Given the description of an element on the screen output the (x, y) to click on. 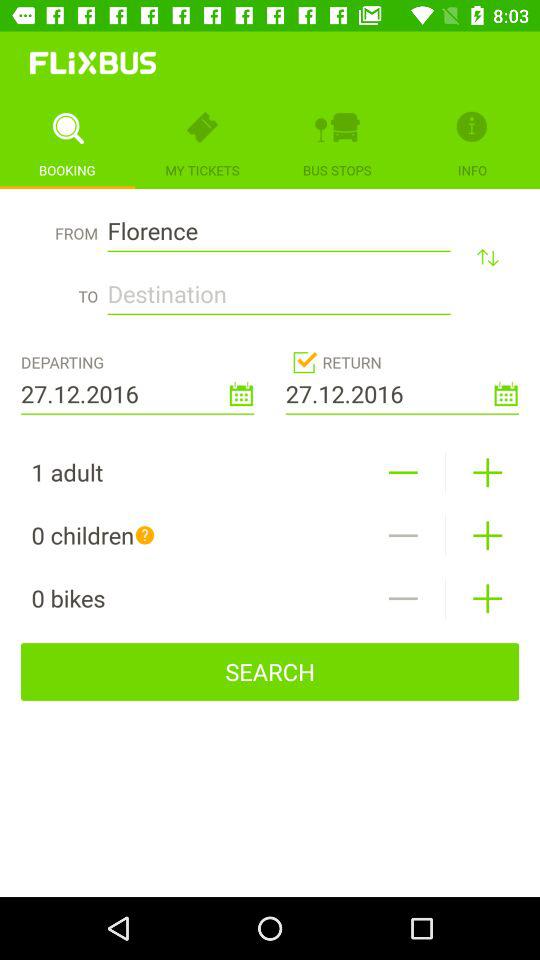
decrease the number of elements (402, 535)
